Given the description of an element on the screen output the (x, y) to click on. 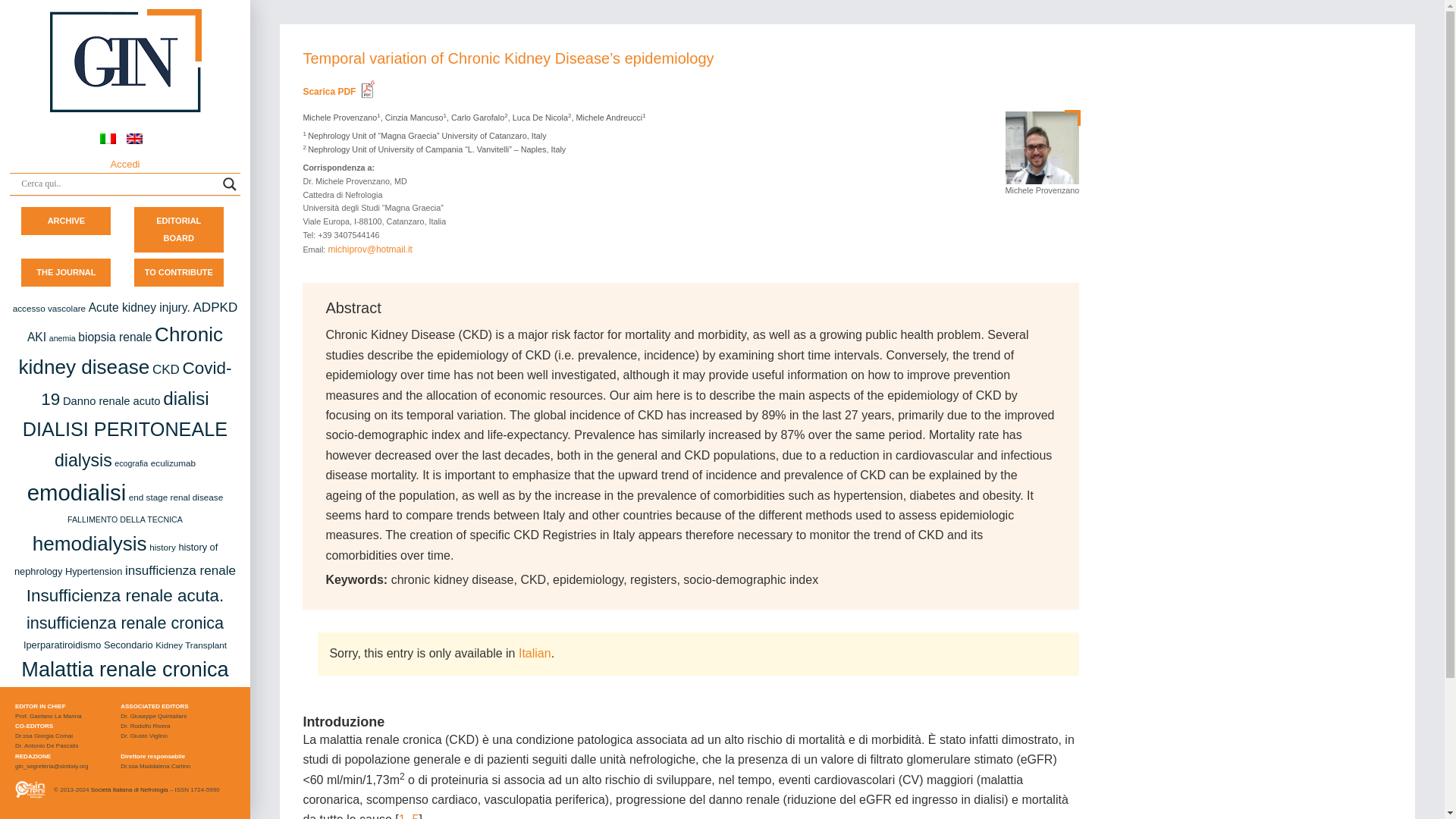
dialysis (83, 460)
TO CONTRIBUTE (178, 272)
Malattia renale cronica (124, 668)
insufficienza renale (180, 570)
Insufficienza renale acuta. (125, 595)
eculizumab (173, 462)
insufficienza renale cronica (125, 622)
Accedi (124, 163)
Italiano (534, 653)
ADPKD (214, 307)
THE JOURNAL (65, 272)
anemia (62, 338)
DIALISI PERITONEALE (125, 428)
ARCHIVE (66, 220)
biopsia renale (114, 336)
